Given the description of an element on the screen output the (x, y) to click on. 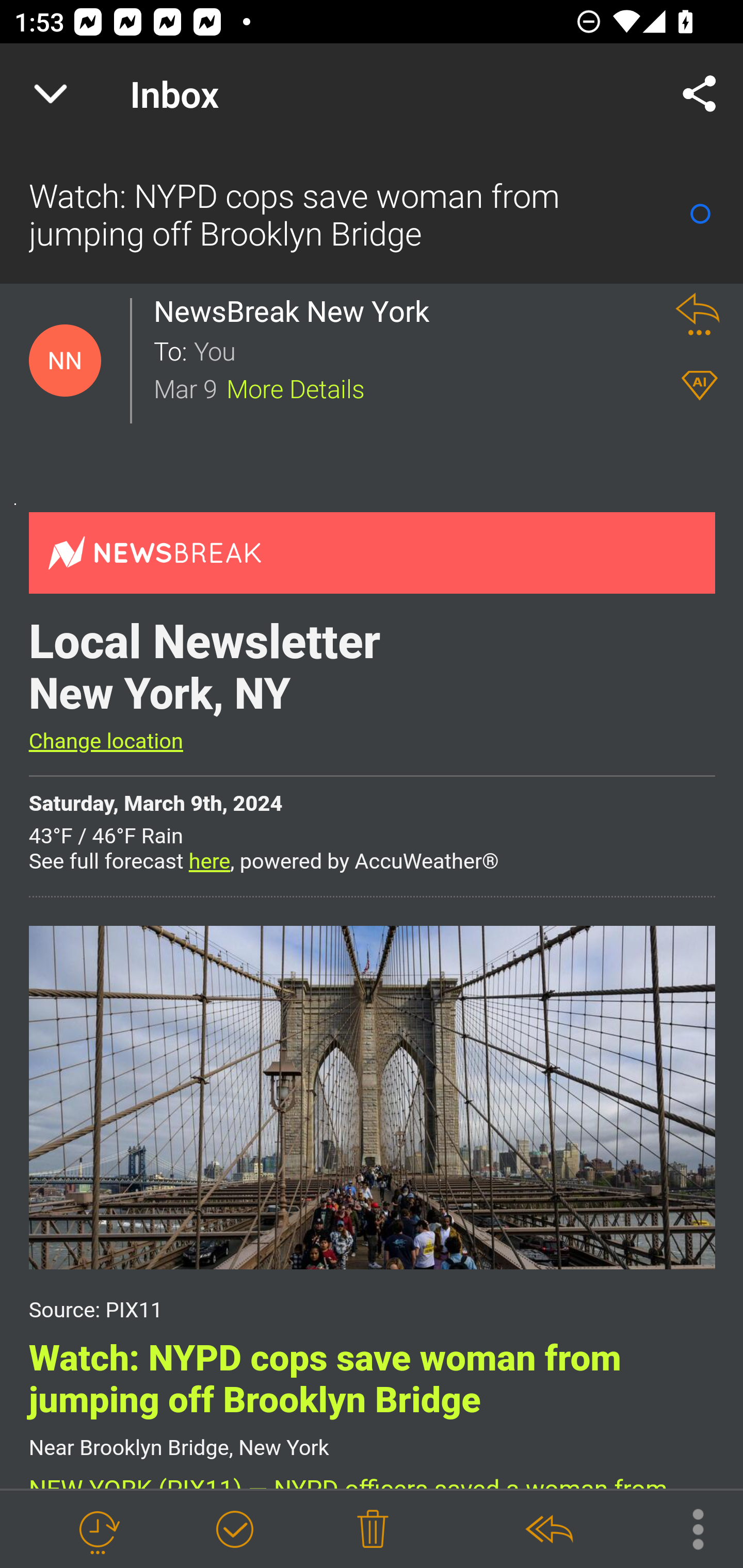
Navigate up (50, 93)
Share (699, 93)
Mark as Read (699, 213)
NewsBreak New York (296, 310)
Contact Details (64, 360)
You (422, 349)
More Details (295, 387)
Change location (105, 740)
here (209, 861)
1 local news image (371, 1097)
More Options (687, 1528)
Snooze (97, 1529)
Mark as Done (234, 1529)
Delete (372, 1529)
Reply All (548, 1529)
